Given the description of an element on the screen output the (x, y) to click on. 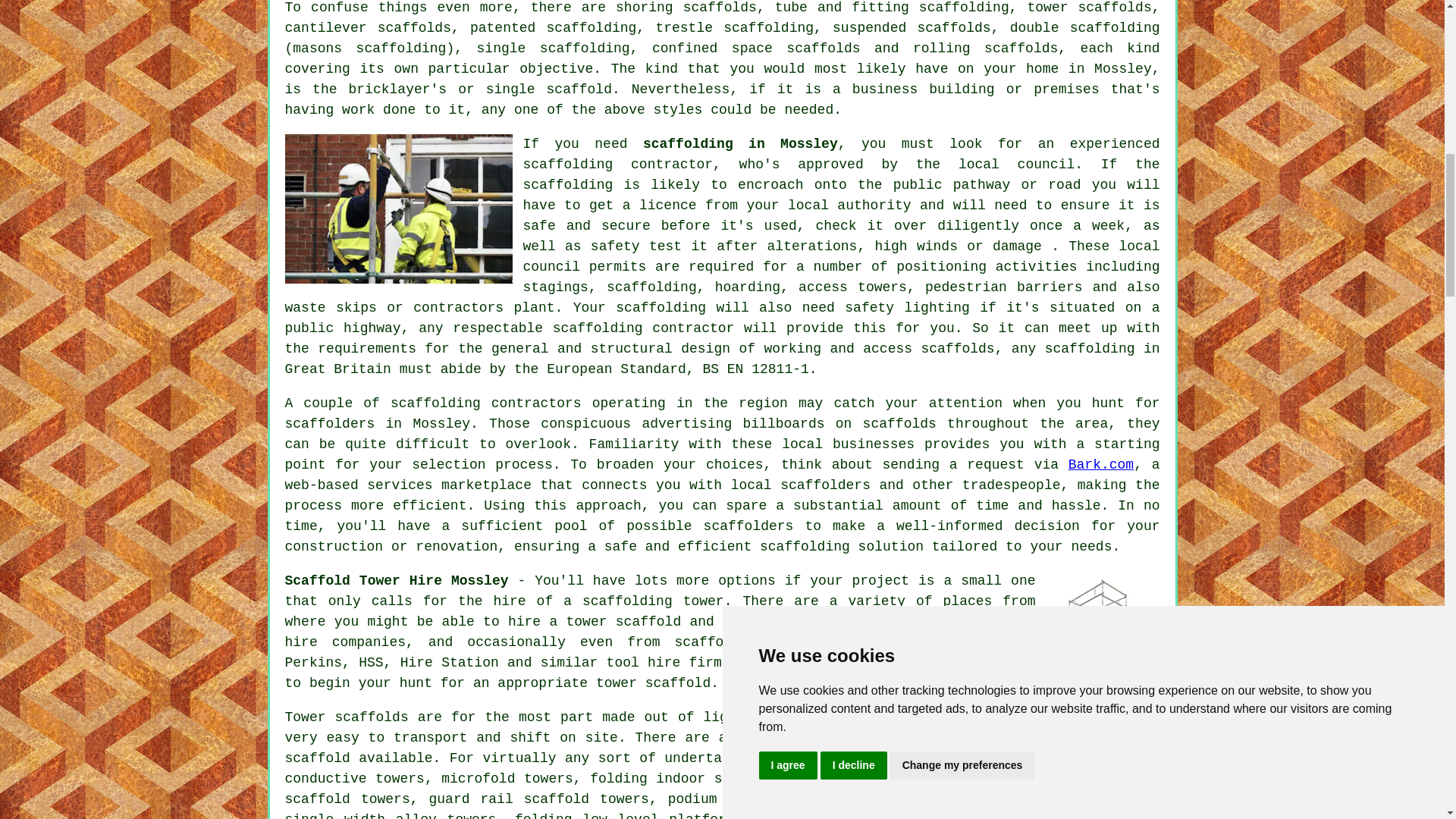
scaffolding contractors (485, 403)
scaffolding (652, 287)
safety (615, 246)
trestle (684, 28)
cantilever (325, 28)
shoring scaffolds (686, 7)
scaffolding in Mossley (740, 143)
local council (1016, 164)
scaffolding (592, 28)
scaffolding contractor (617, 164)
